Given the description of an element on the screen output the (x, y) to click on. 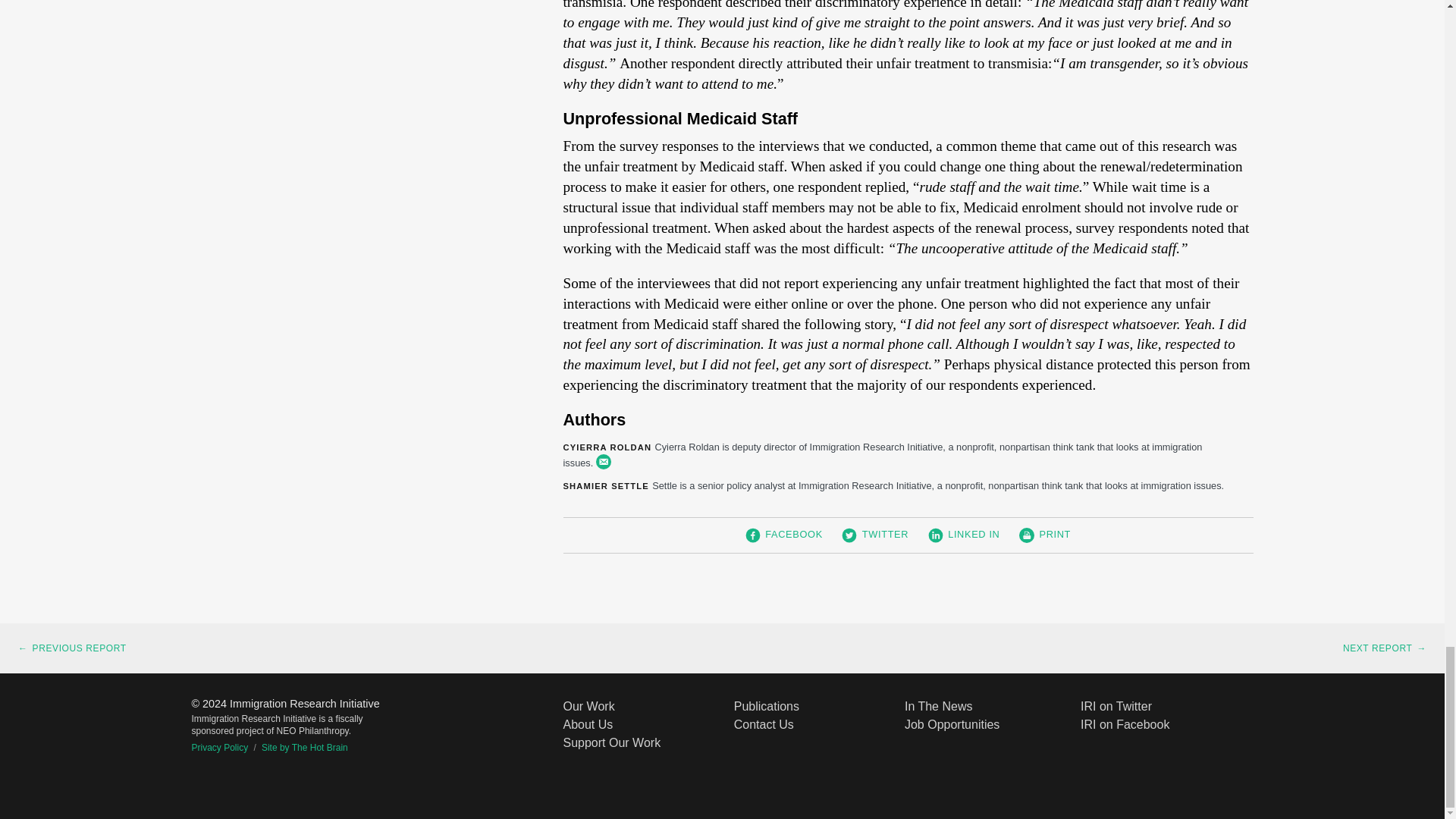
PRINT (1044, 534)
TWITTER (874, 534)
Privacy Policy (218, 747)
LINKED IN (964, 534)
Site by The Hot Brain (297, 747)
SHAMIER SETTLE (604, 485)
Cyierra Roldan (606, 447)
Shamier Settle (604, 485)
FACEBOOK (783, 534)
CYIERRA ROLDAN (606, 447)
